Given the description of an element on the screen output the (x, y) to click on. 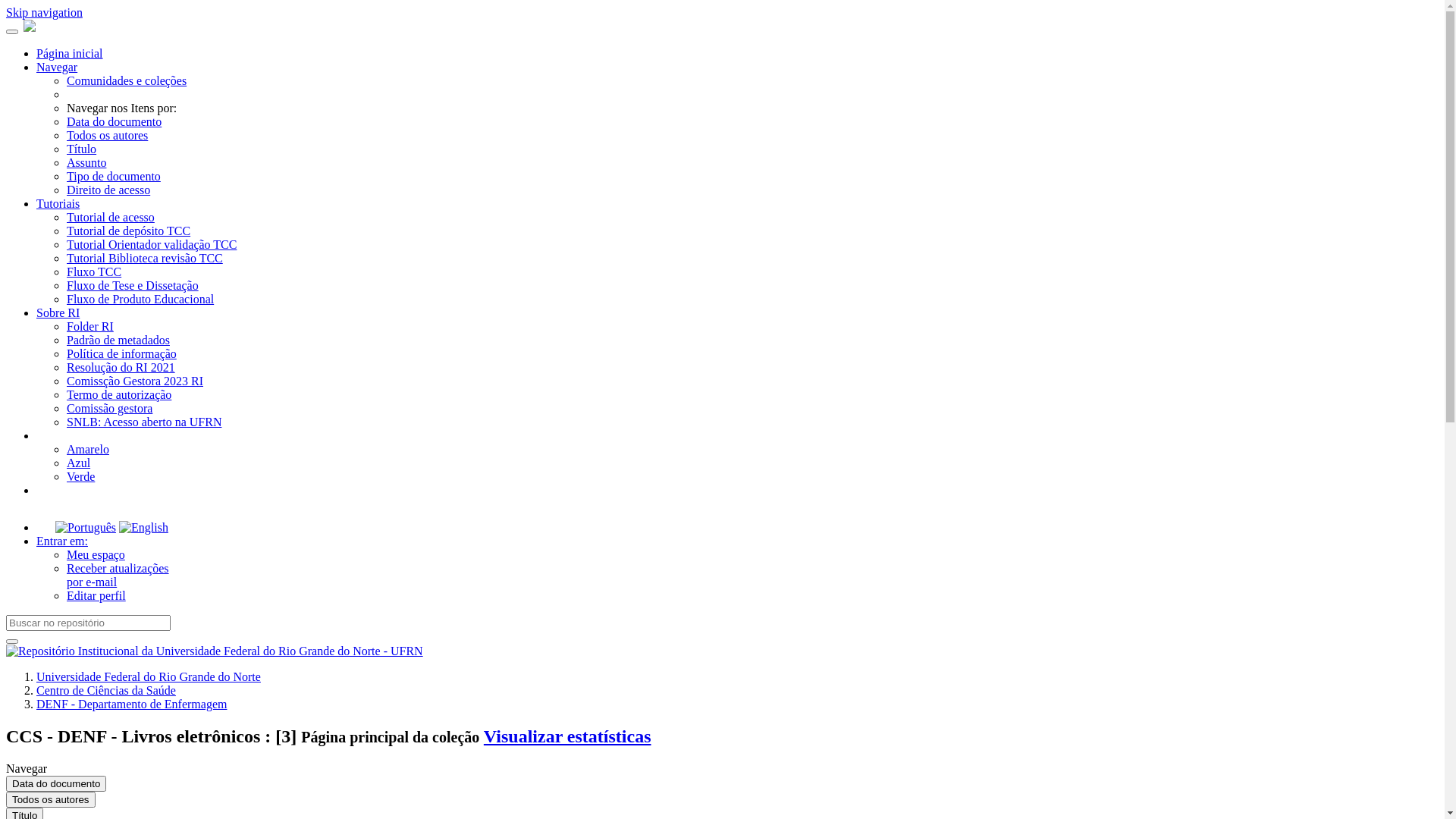
DENF - Departamento de Enfermagem Element type: text (131, 703)
Data do documento Element type: text (113, 121)
Azul Element type: text (78, 462)
Amarelo Element type: text (87, 448)
Tutorial de acesso Element type: text (110, 216)
Skip navigation Element type: text (44, 12)
Folder RI Element type: text (89, 326)
Navegar Element type: text (56, 66)
Sobre RI Element type: text (57, 312)
Todos os autores Element type: text (50, 799)
SNLB: Acesso aberto na UFRN Element type: text (143, 421)
Fluxo de Produto Educacional Element type: text (139, 298)
Data do documento Element type: text (56, 783)
English Element type: hover (143, 527)
Editar perfil Element type: text (95, 595)
Fluxo TCC Element type: text (93, 271)
Todos os autores Element type: text (106, 134)
Universidade Federal do Rio Grande do Norte Element type: text (148, 676)
Tutoriais Element type: text (57, 203)
Entrar em: Element type: text (61, 540)
Verde Element type: text (80, 476)
Tipo de documento Element type: text (113, 175)
Direito de acesso Element type: text (108, 189)
Assunto Element type: text (86, 162)
